Given the description of an element on the screen output the (x, y) to click on. 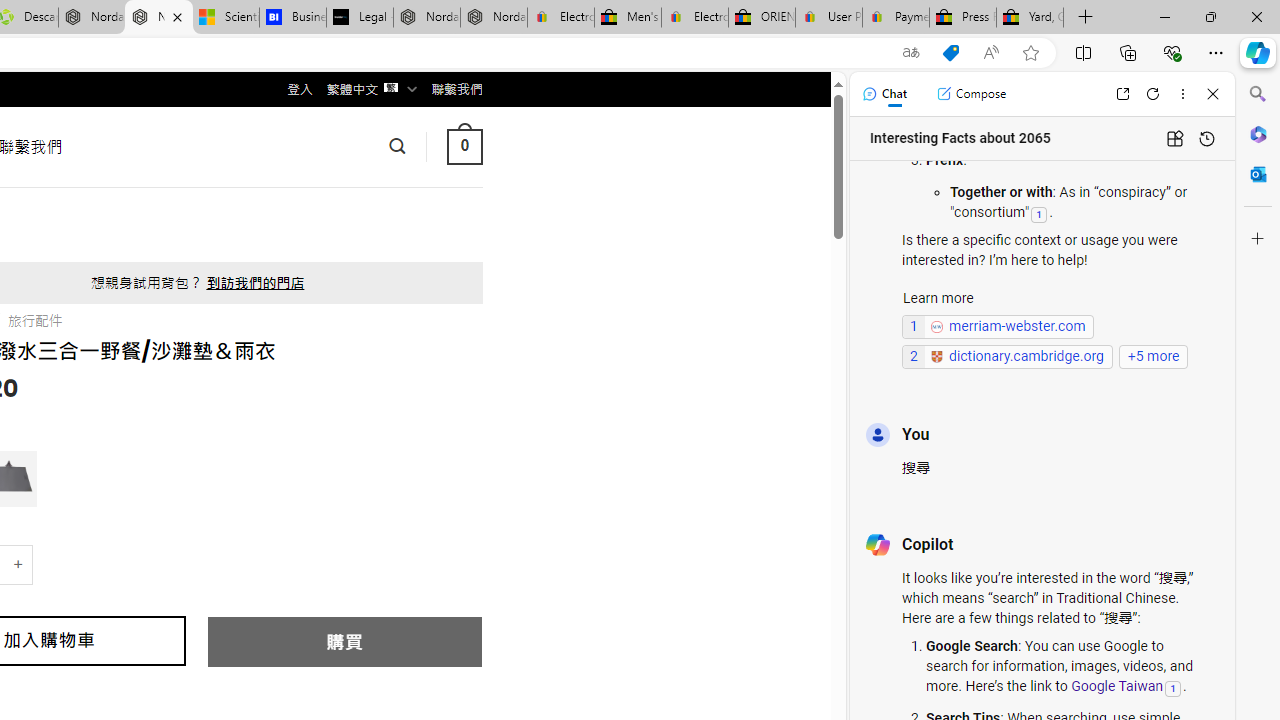
 0  (464, 146)
